Given the description of an element on the screen output the (x, y) to click on. 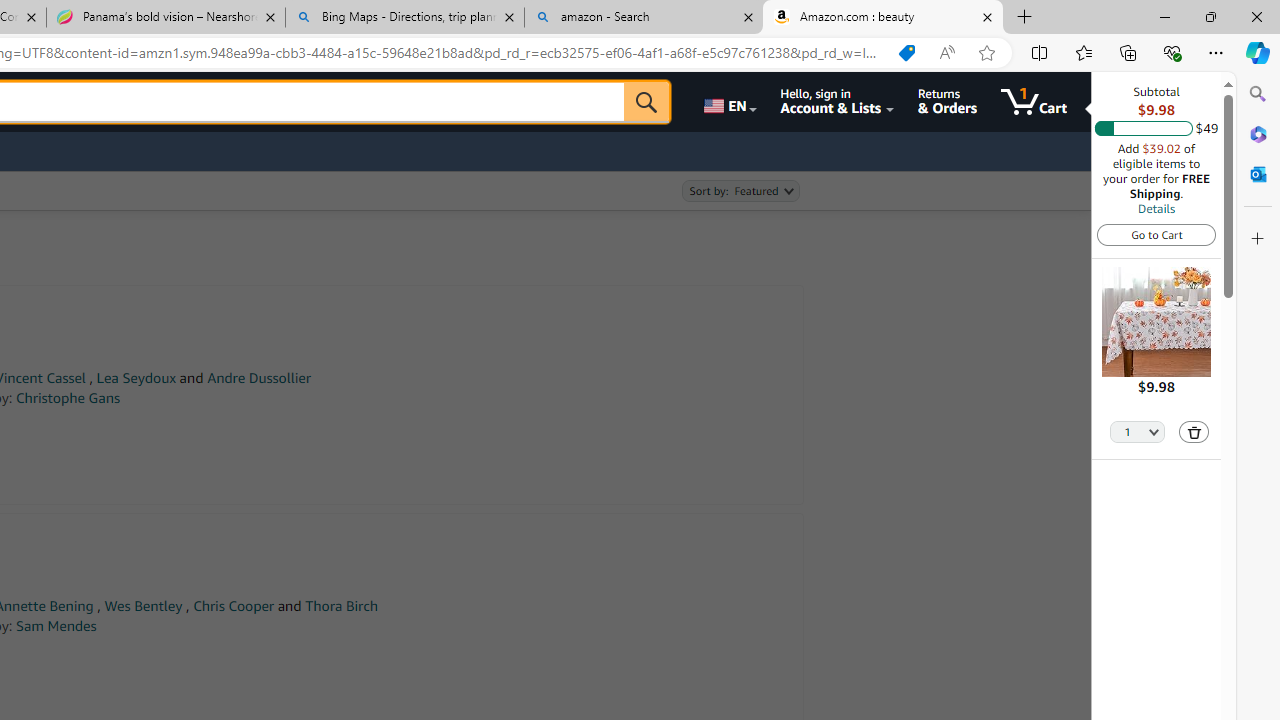
Go (646, 101)
Christophe Gans (67, 398)
Hello, sign in Account & Lists (836, 101)
Chris Cooper (234, 606)
Andre Dussollier (259, 378)
